Given the description of an element on the screen output the (x, y) to click on. 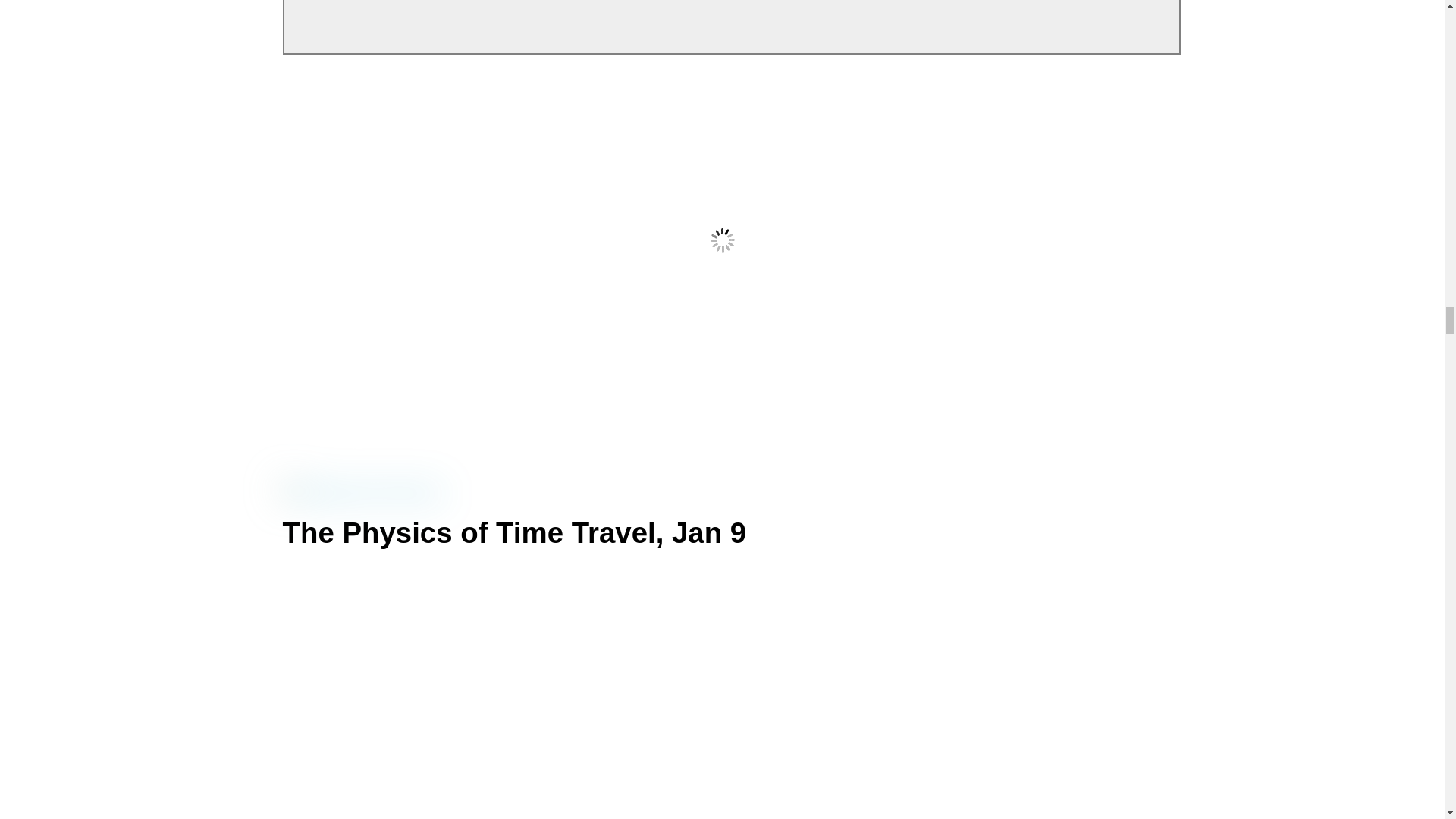
The Physics of Time Travel (360, 493)
